Given the description of an element on the screen output the (x, y) to click on. 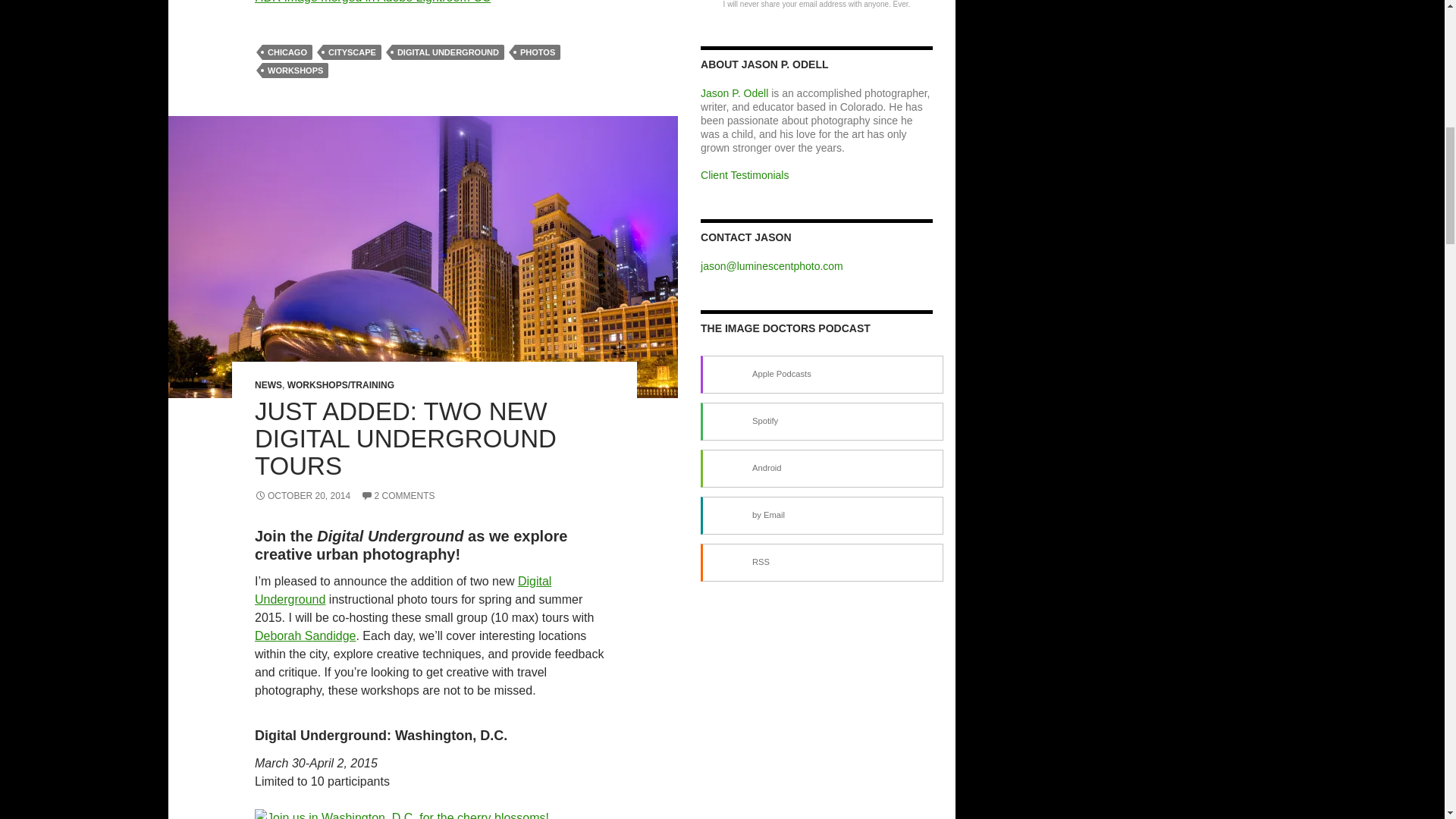
Digital Underground instructional photo tours (402, 590)
DIGITAL UNDERGROUND (447, 52)
CITYSCAPE (352, 52)
NEWS (268, 385)
Deborah Sandidge photography (304, 635)
WORKSHOPS (295, 70)
CHICAGO (287, 52)
PHOTOS (537, 52)
HDR image merged in Adobe Lightroom CC (372, 2)
